Given the description of an element on the screen output the (x, y) to click on. 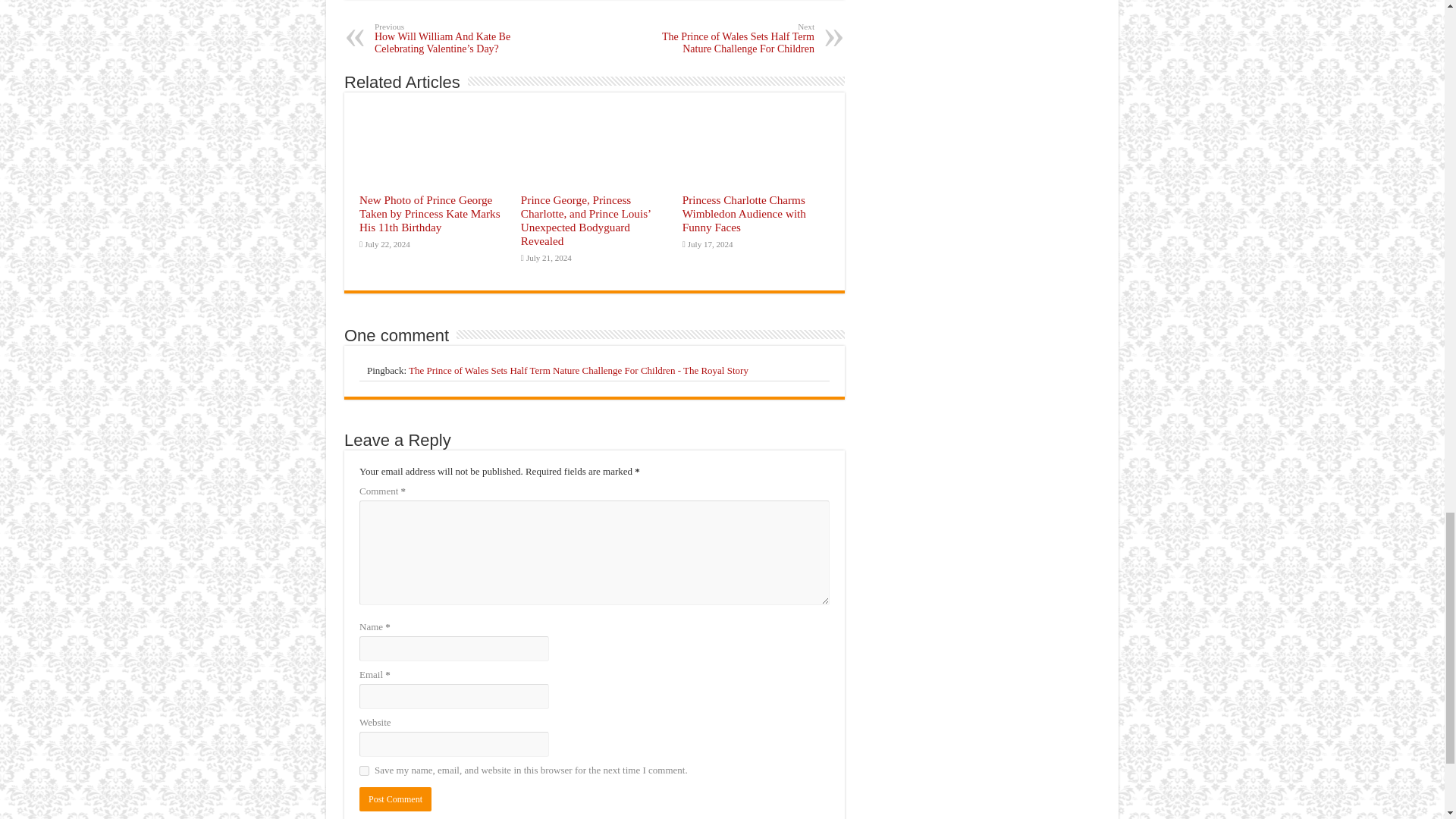
yes (364, 770)
Post Comment (394, 799)
